Given the description of an element on the screen output the (x, y) to click on. 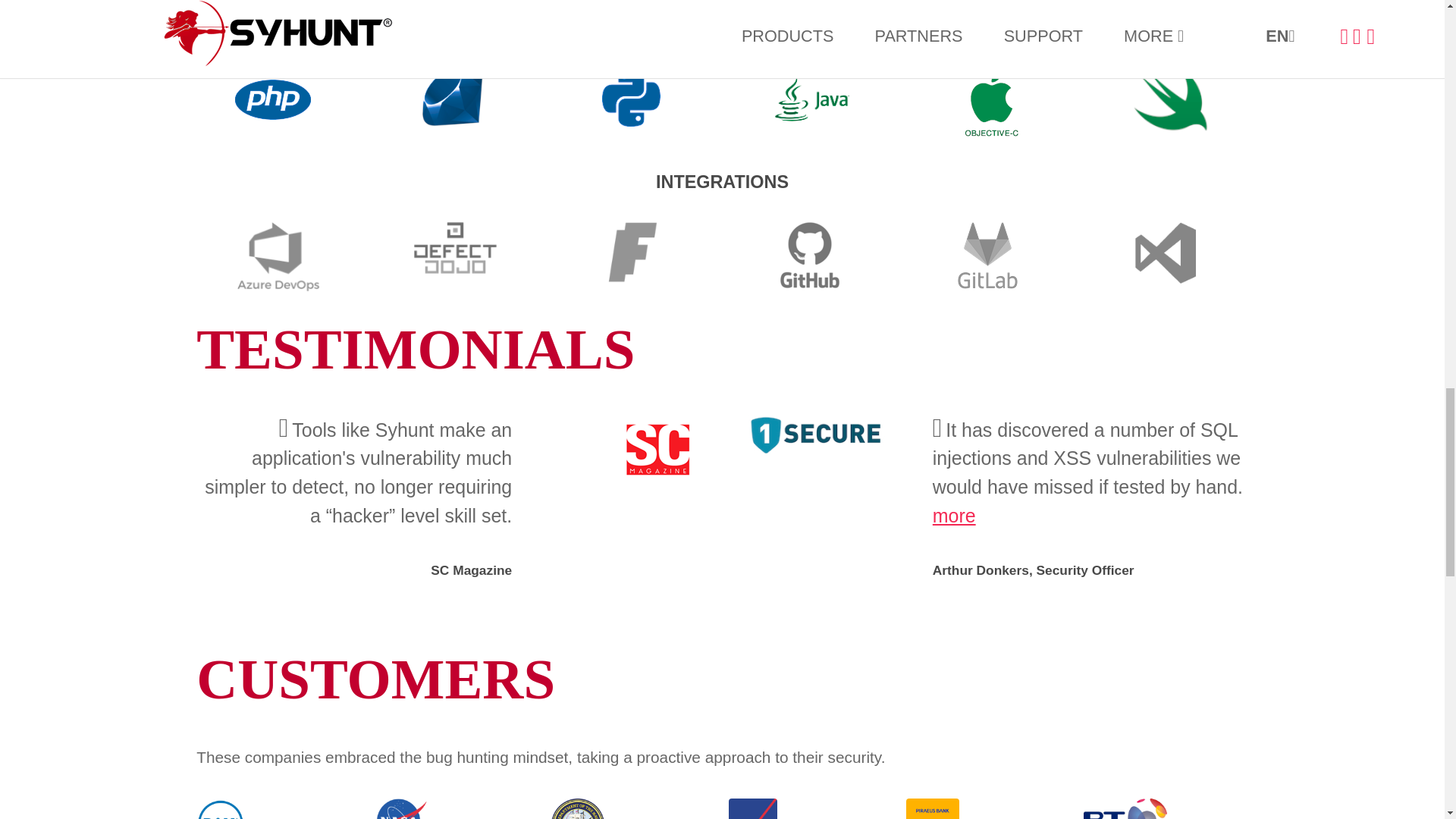
more (954, 515)
